Given the description of an element on the screen output the (x, y) to click on. 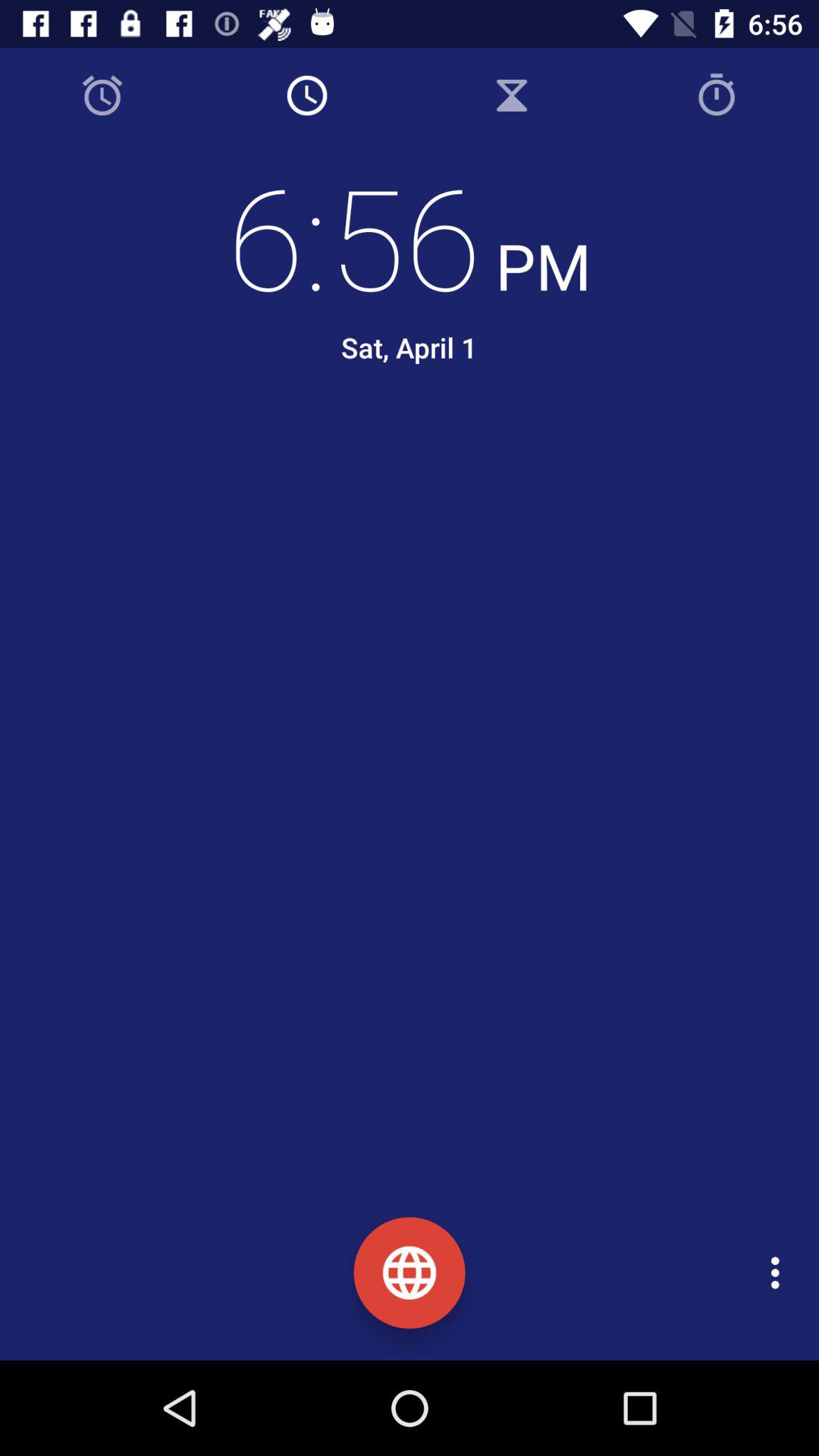
turn off the icon below the sat, april 1 icon (421, 453)
